Given the description of an element on the screen output the (x, y) to click on. 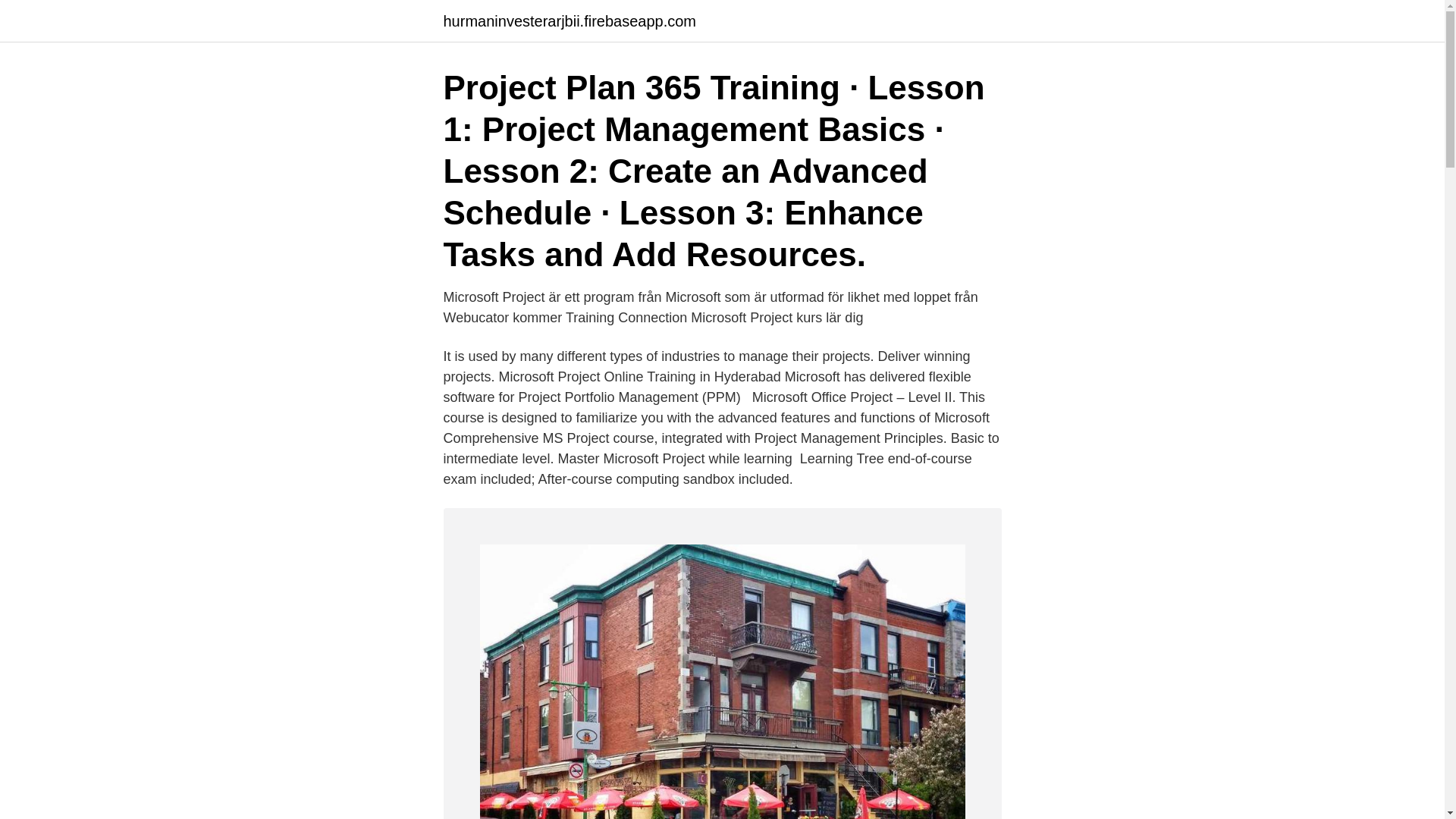
hurmaninvesterarjbii.firebaseapp.com (568, 20)
